Given the description of an element on the screen output the (x, y) to click on. 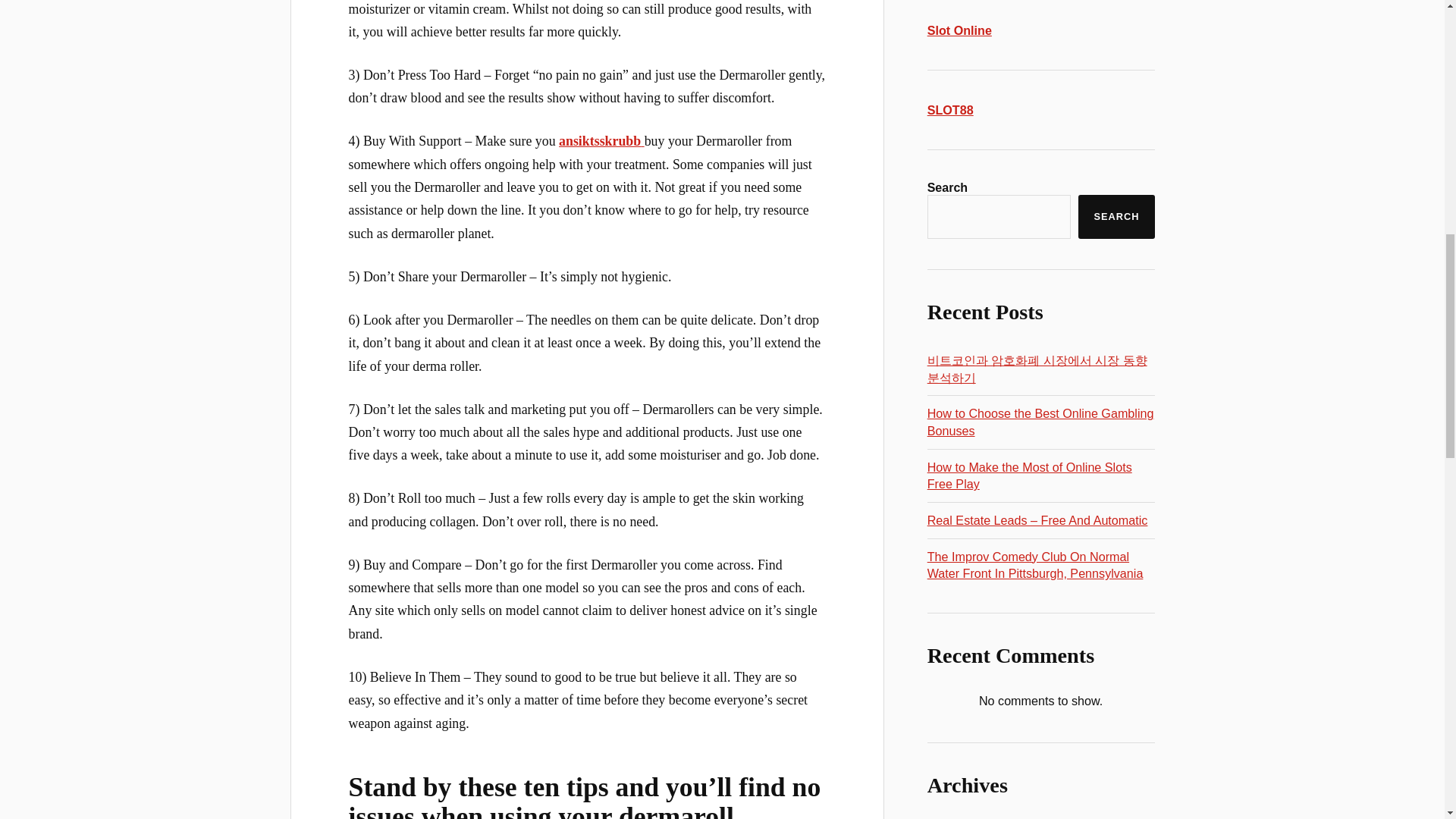
How to Choose the Best Online Gambling Bonuses (1040, 421)
SLOT88 (950, 110)
How to Make the Most of Online Slots Free Play (1029, 475)
SEARCH (1116, 216)
ansiktsskrubb (602, 140)
Slot Online (959, 29)
